Given the description of an element on the screen output the (x, y) to click on. 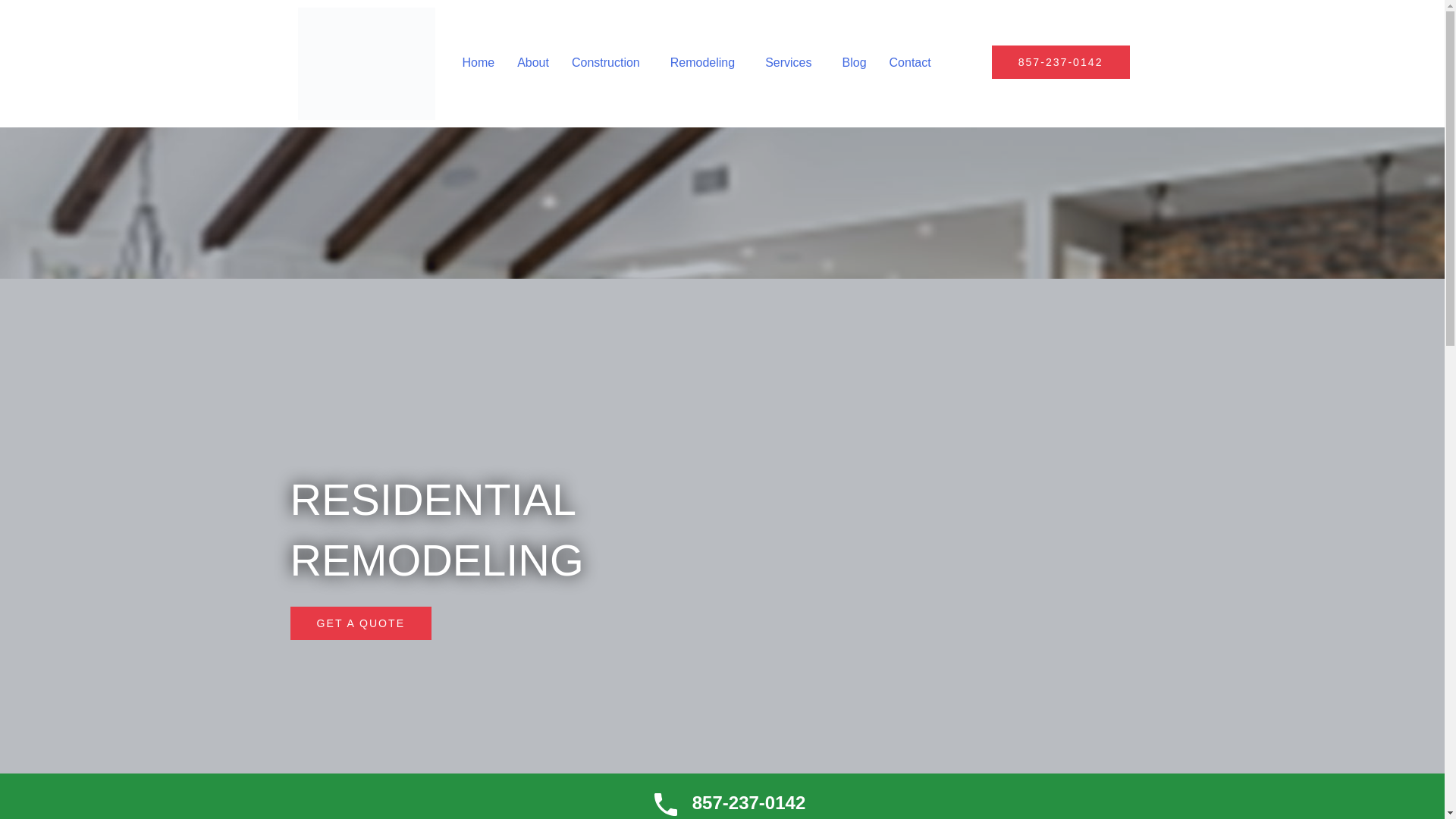
Home (477, 62)
Remodeling (706, 62)
Construction (609, 62)
857-237-0142 (1060, 61)
Contact (909, 62)
Services (791, 62)
About (532, 62)
GET A QUOTE (359, 622)
Blog (854, 62)
